Given the description of an element on the screen output the (x, y) to click on. 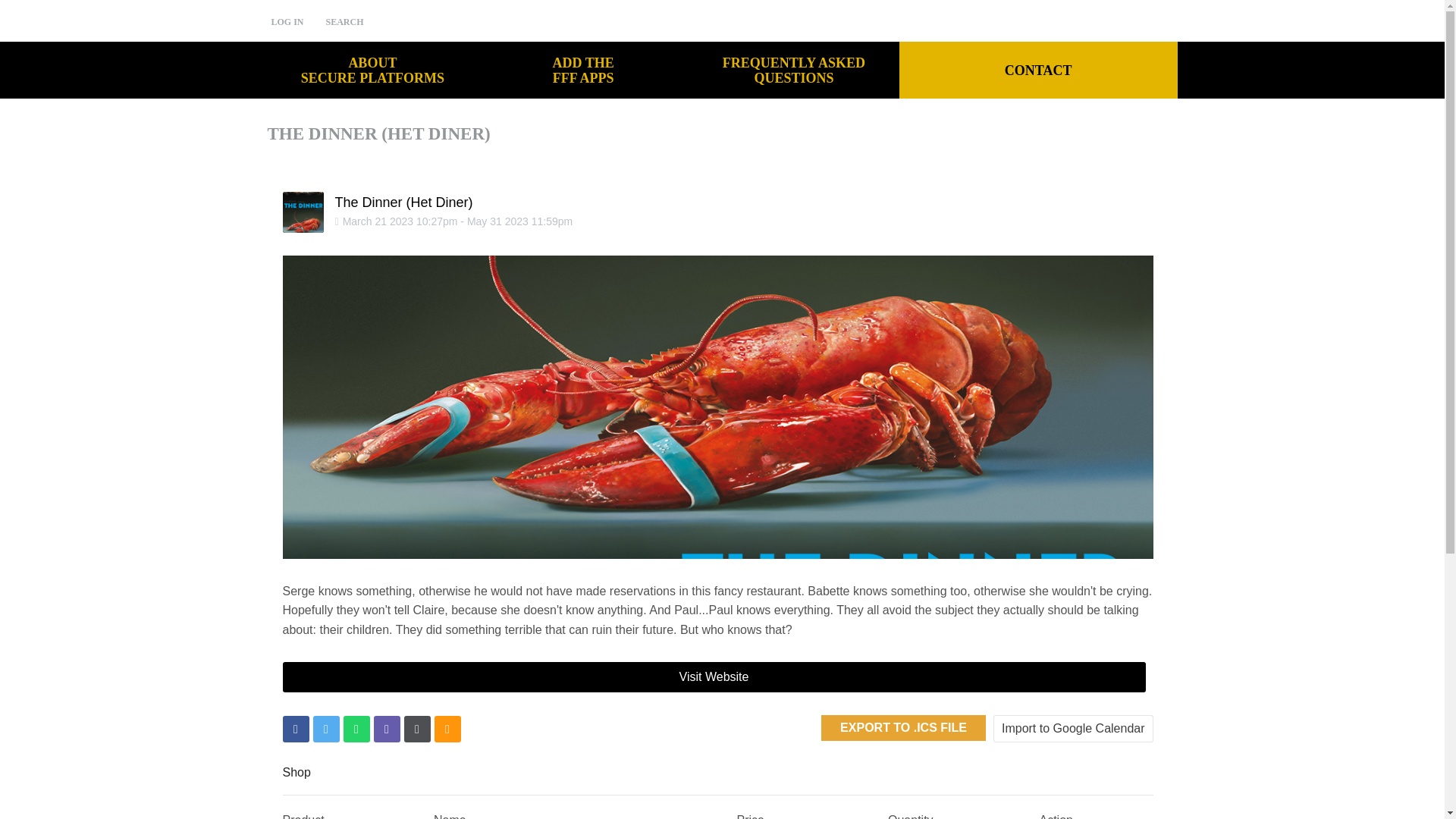
CONTACT (793, 69)
SEARCH (1038, 69)
LOG IN (582, 69)
